Given the description of an element on the screen output the (x, y) to click on. 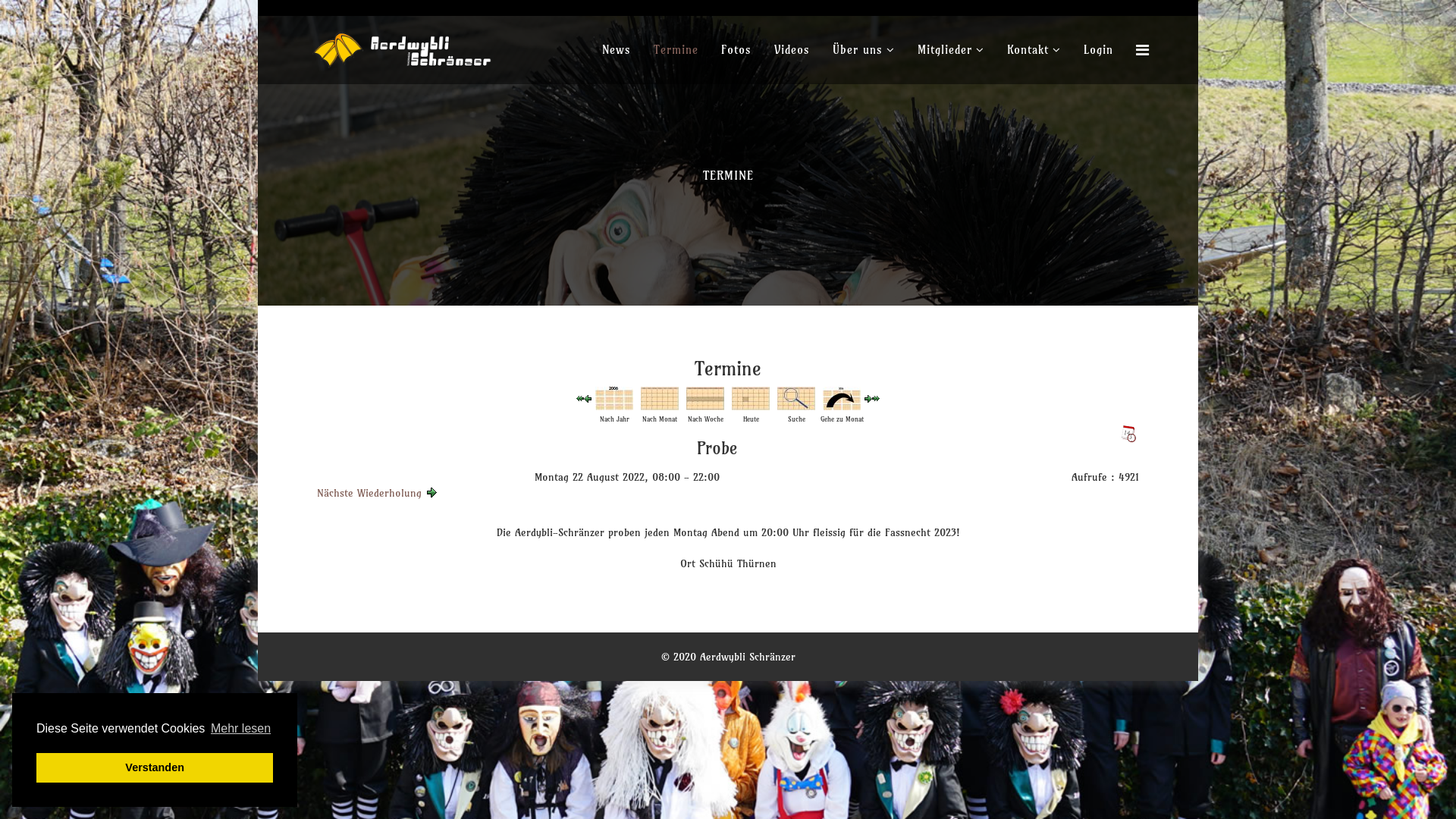
Videos Element type: text (791, 49)
Nach Woche Element type: hover (705, 398)
Vorheriger Tag Element type: hover (587, 398)
Gehe zu Monat Element type: hover (841, 398)
Verstanden Element type: text (154, 767)
Heute Element type: hover (750, 398)
Login Element type: text (1098, 49)
Mitglieder Element type: text (950, 49)
Nach Jahr Element type: hover (614, 398)
Mehr lesen Element type: text (240, 728)
Als iCal-Datei herunterladen Element type: hover (1128, 433)
Fotos Element type: text (735, 49)
Nach Monat Element type: hover (659, 398)
Kontakt Element type: text (1033, 49)
Suche Element type: hover (796, 398)
Termine Element type: text (675, 49)
News Element type: text (616, 49)
Vorheriger Monat Element type: hover (579, 398)
